Given the description of an element on the screen output the (x, y) to click on. 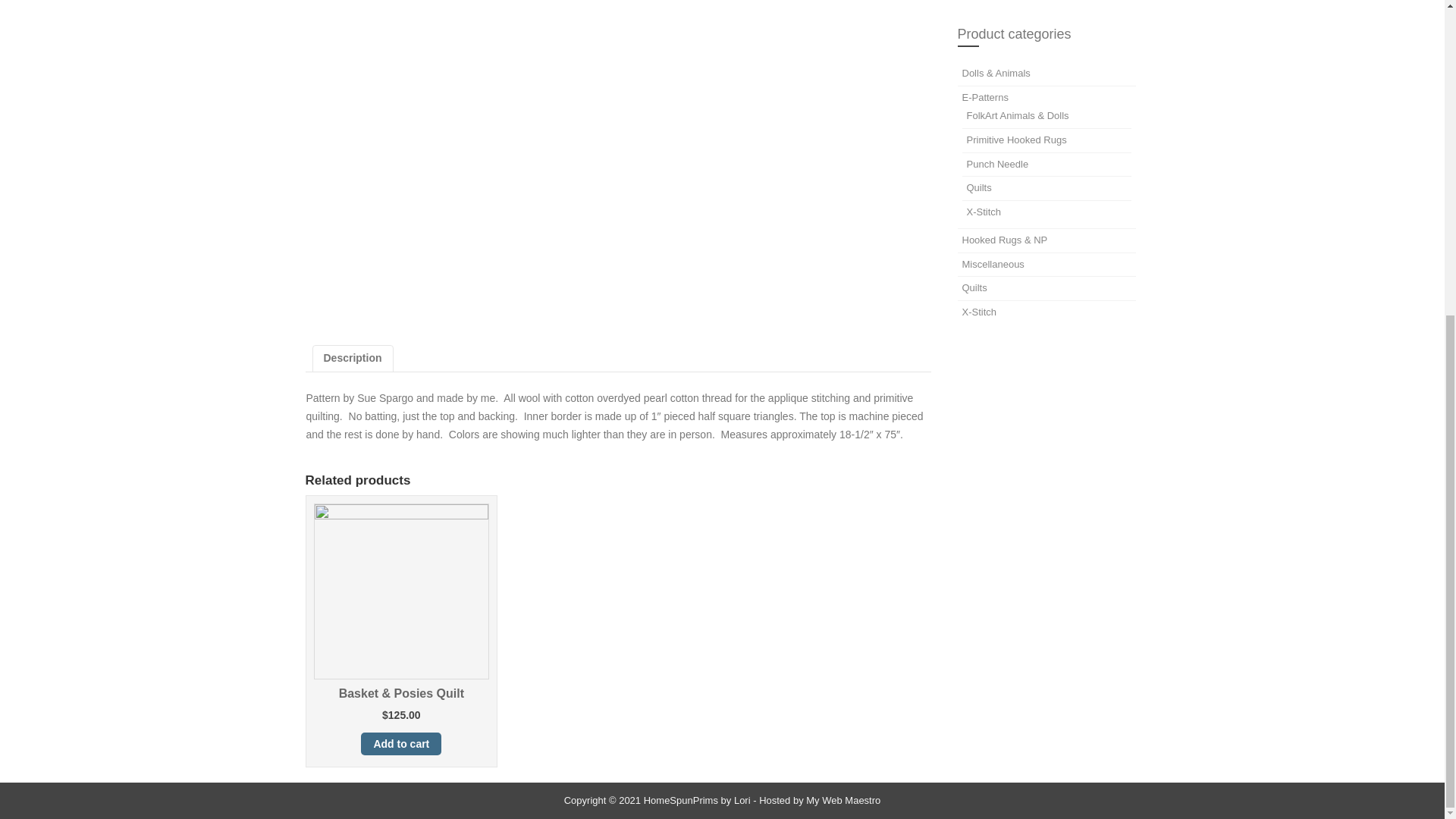
Add to cart (401, 743)
Miscellaneous (991, 264)
E-Patterns (983, 97)
Description (352, 358)
Punch Needle (996, 163)
X-Stitch (983, 211)
Primitive Hooked Rugs (1015, 139)
Quilts (973, 287)
Quilts (978, 187)
X-Stitch (977, 311)
